Given the description of an element on the screen output the (x, y) to click on. 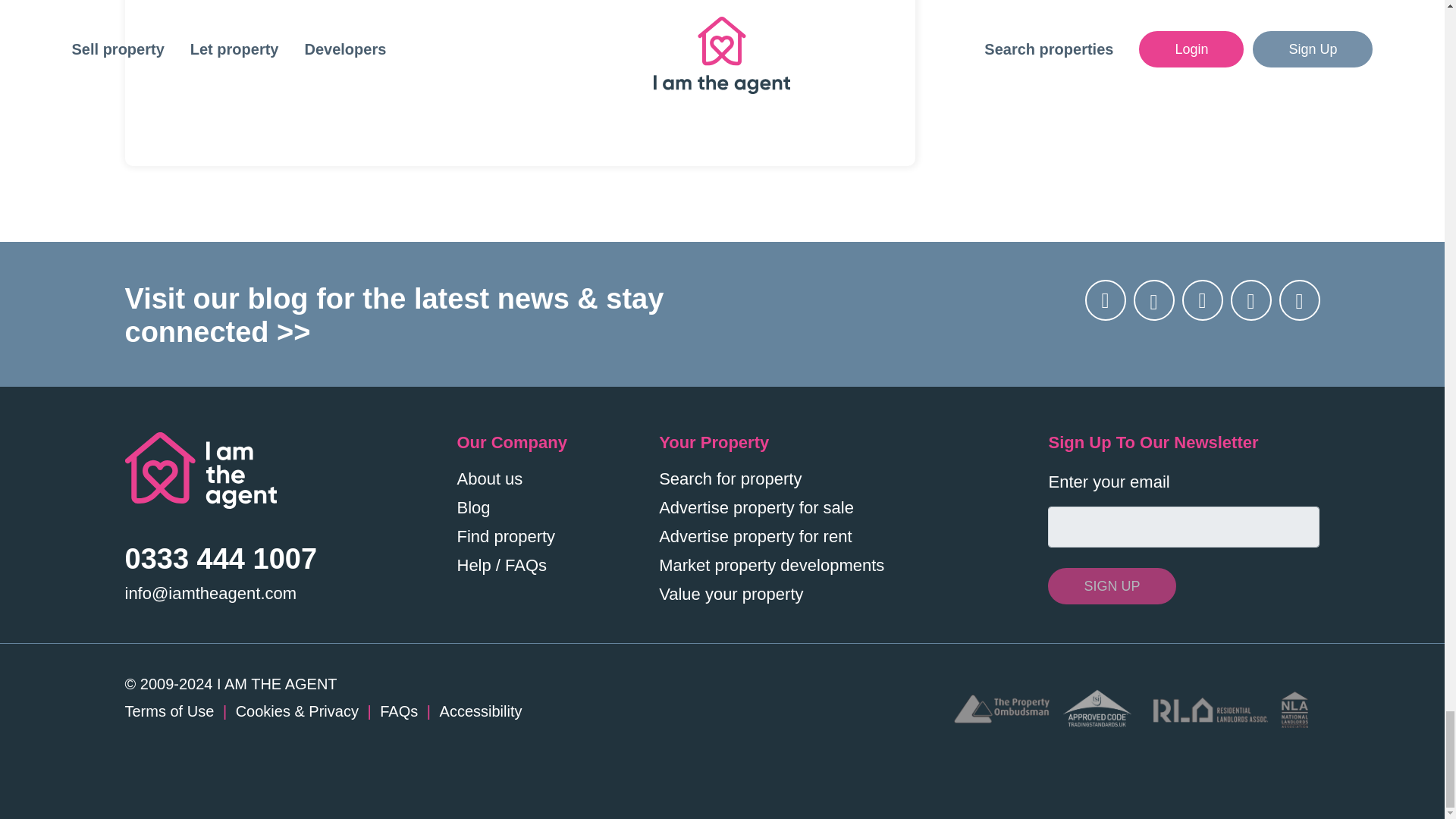
About us (489, 478)
Blog (473, 506)
Search for property (730, 478)
Find property (505, 536)
